Given the description of an element on the screen output the (x, y) to click on. 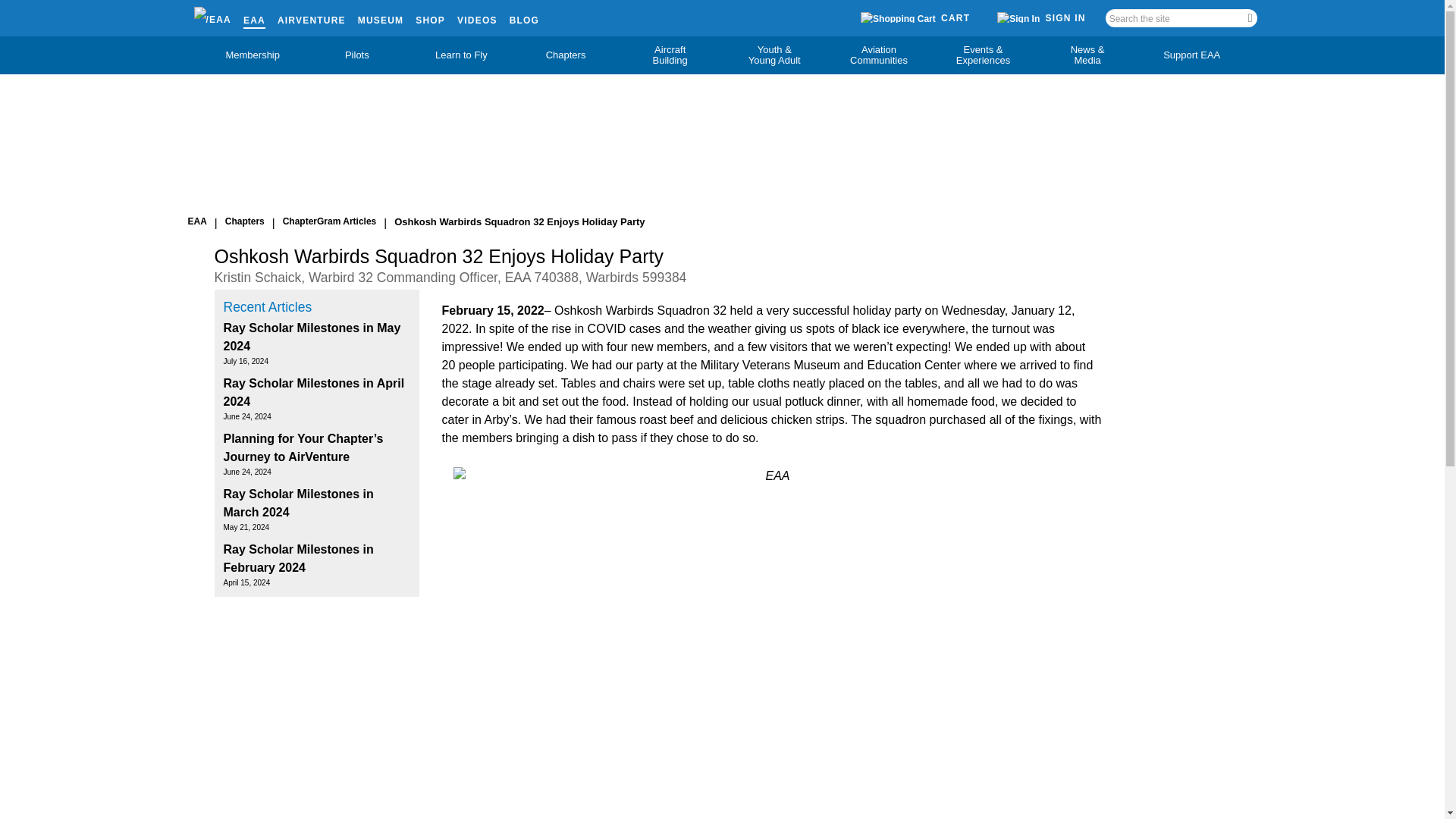
EAA (253, 17)
VIDEOS (477, 17)
MUSEUM (381, 17)
SHOP (429, 17)
AIRVENTURE (312, 17)
BLOG (523, 17)
CART (914, 18)
SIGN IN (1041, 18)
